Given the description of an element on the screen output the (x, y) to click on. 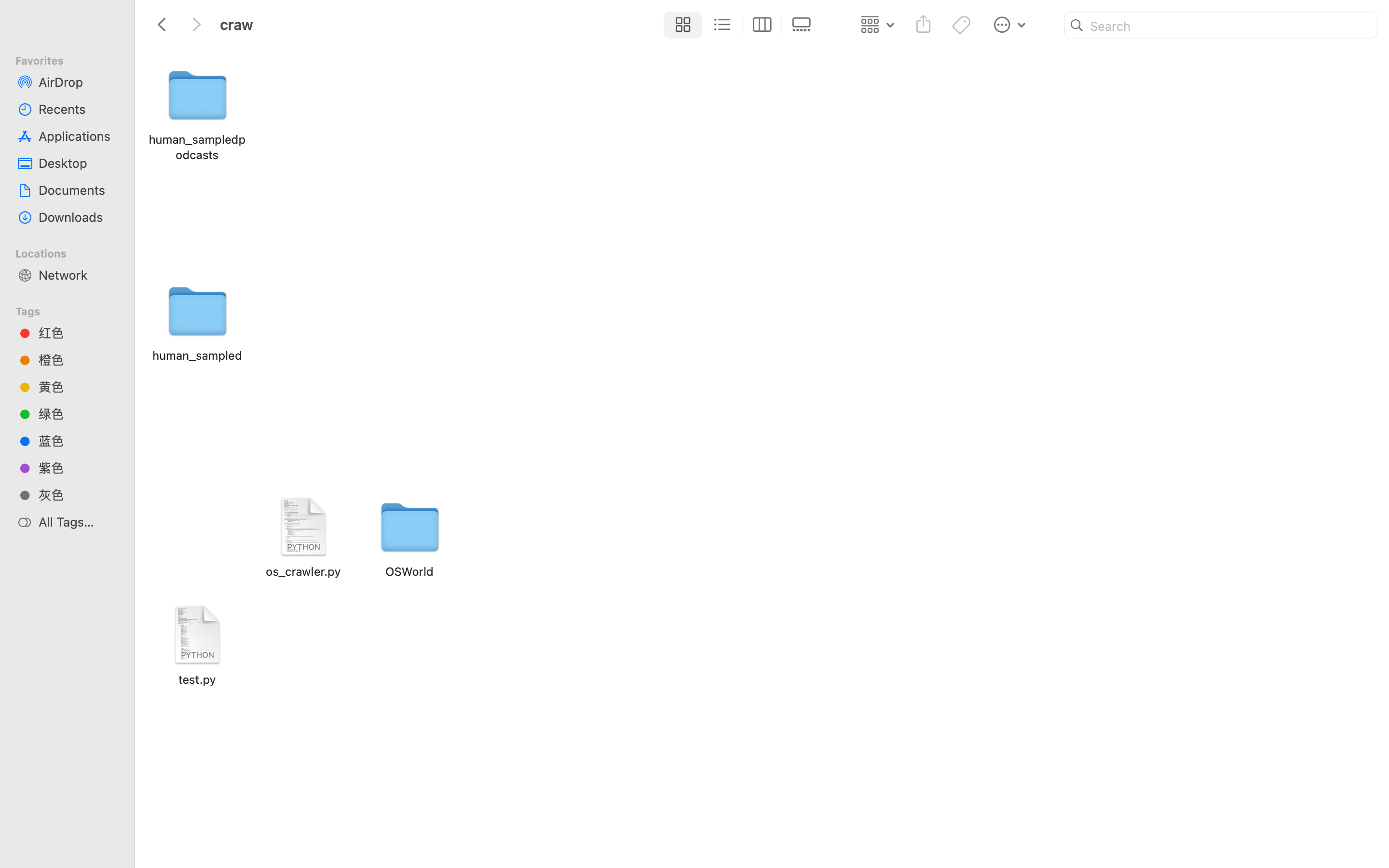
Tags Element type: AXStaticText (72, 309)
黄色 Element type: AXStaticText (77, 386)
Favorites Element type: AXStaticText (72, 59)
Network Element type: AXStaticText (77, 274)
橙色 Element type: AXStaticText (77, 359)
